Given the description of an element on the screen output the (x, y) to click on. 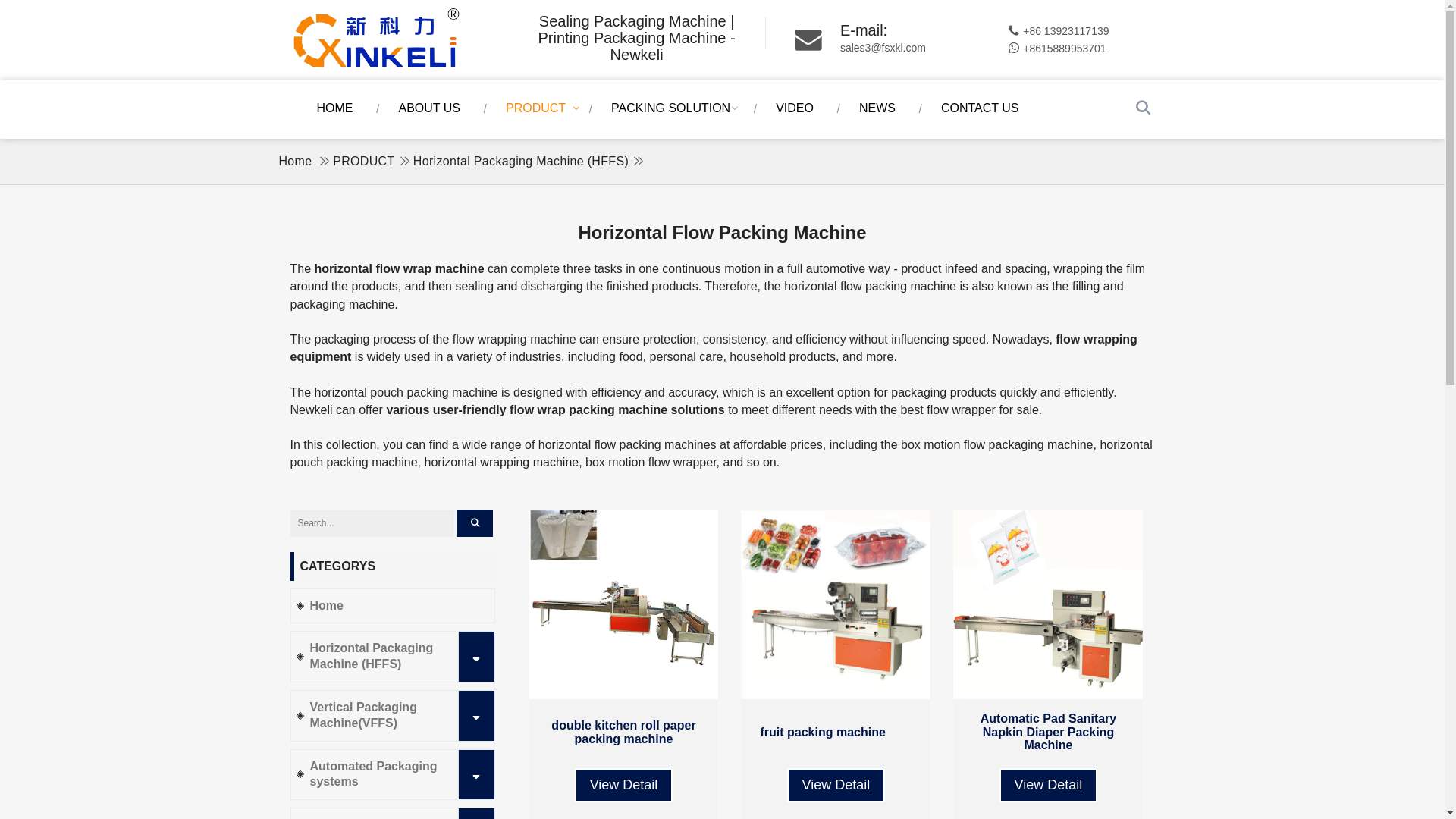
VIDEO (798, 108)
ABOUT US (432, 108)
NEWS (880, 108)
PRODUCT (539, 108)
HOME (337, 108)
PACKING SOLUTION (674, 108)
PRODUCT (539, 108)
ABOUT US (432, 108)
